Given the description of an element on the screen output the (x, y) to click on. 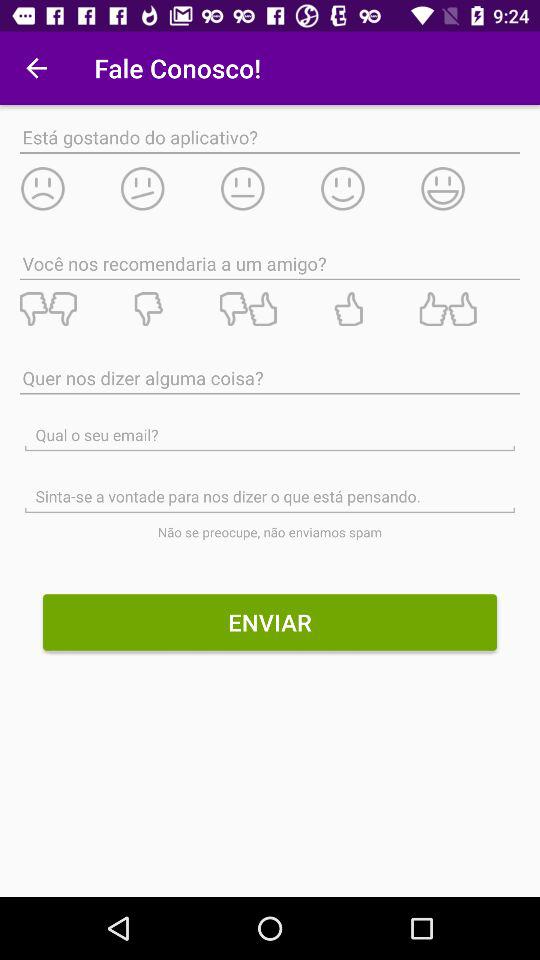
like or dislike fale conosco page (269, 309)
